Given the description of an element on the screen output the (x, y) to click on. 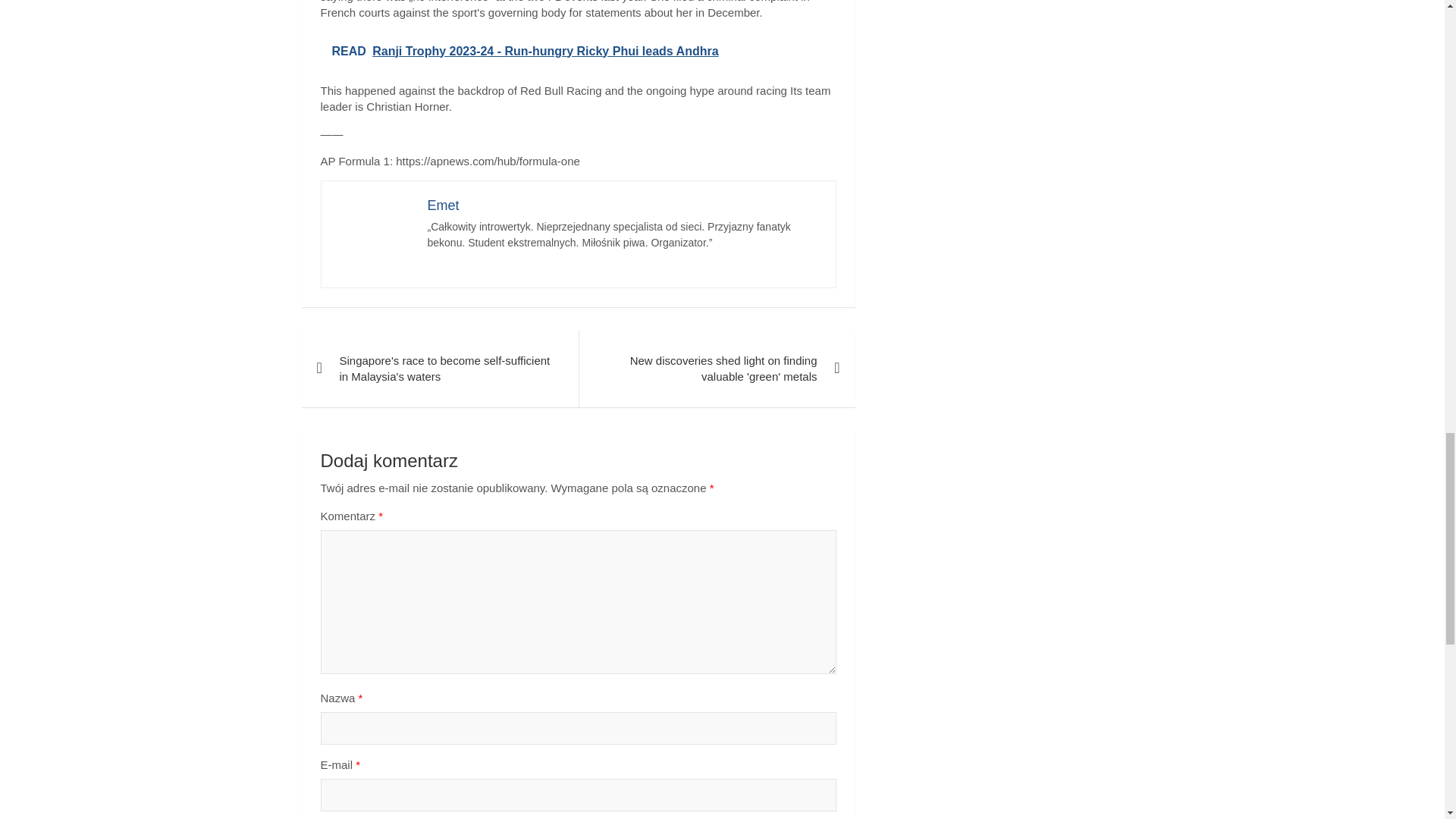
Emet (444, 205)
